Given the description of an element on the screen output the (x, y) to click on. 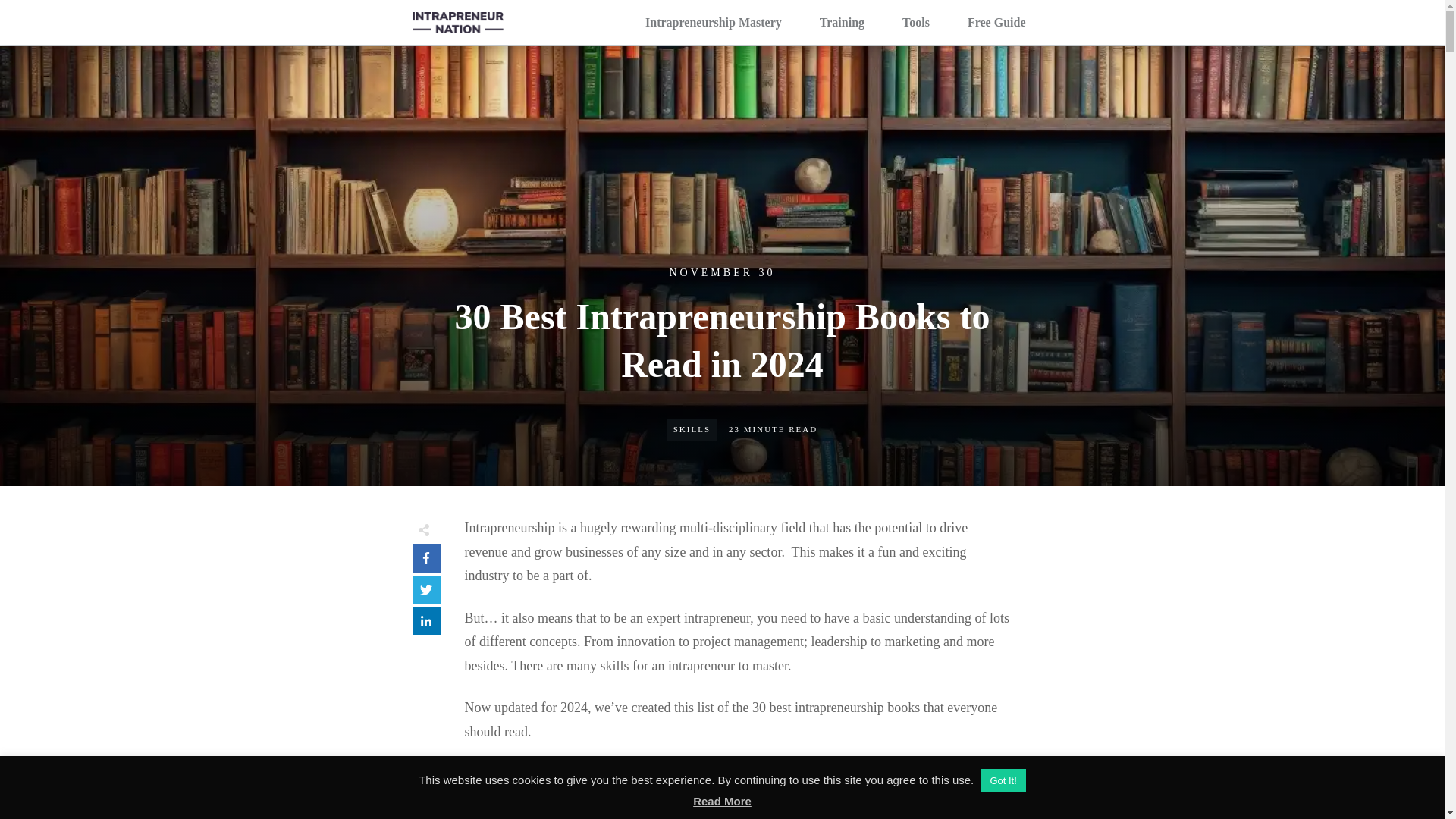
IN Logo 250 (457, 22)
Intrapreneurship Mastery (713, 22)
Free Guide (997, 22)
Skills (691, 429)
Training (841, 22)
SKILLS (691, 429)
Tools (916, 22)
